Given the description of an element on the screen output the (x, y) to click on. 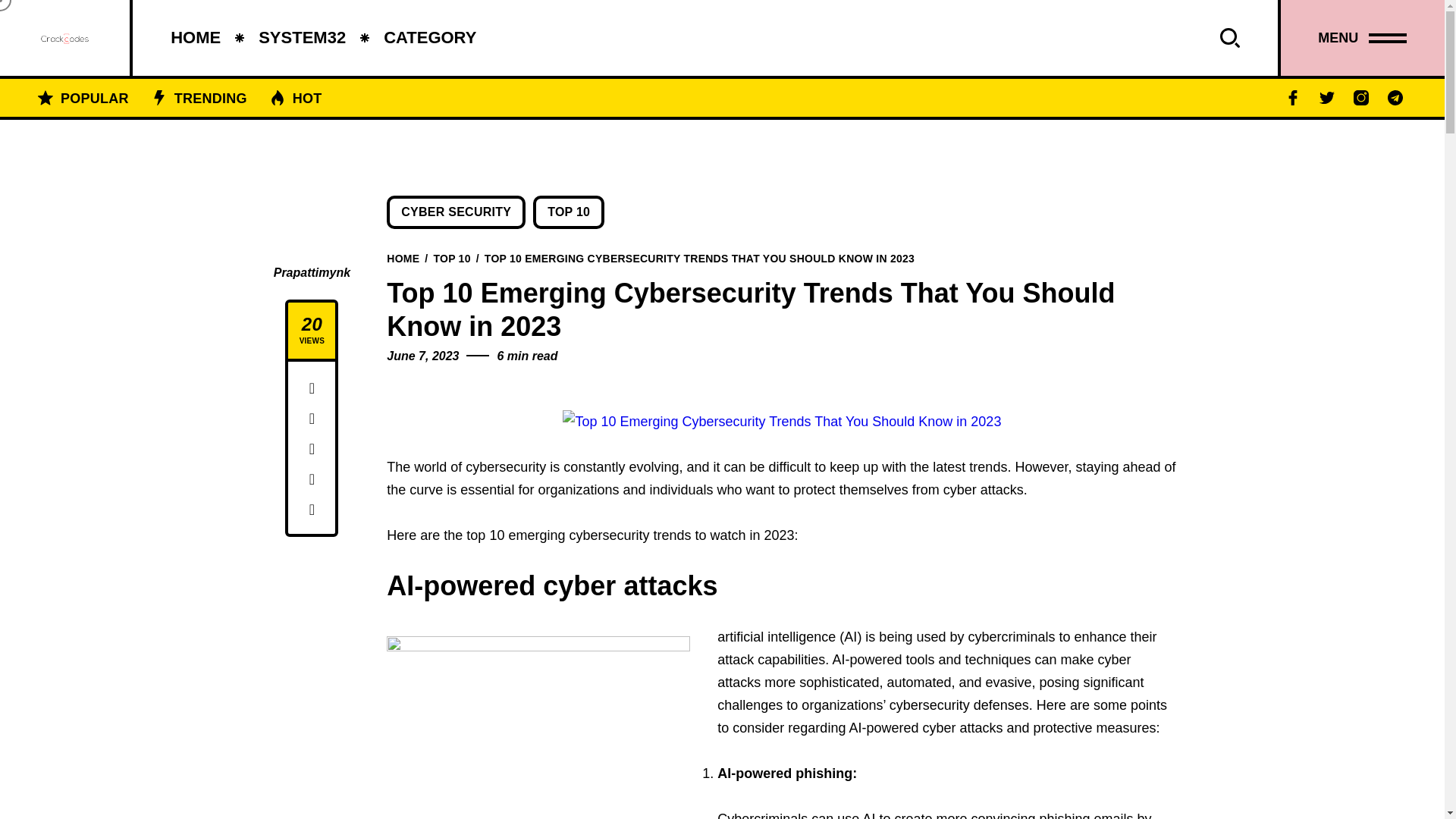
SYSTEM32 (302, 38)
TRENDING (210, 97)
20 (311, 324)
HOME (195, 38)
CATEGORY (430, 38)
POPULAR (94, 97)
HOT (307, 97)
Home (403, 257)
